Given the description of an element on the screen output the (x, y) to click on. 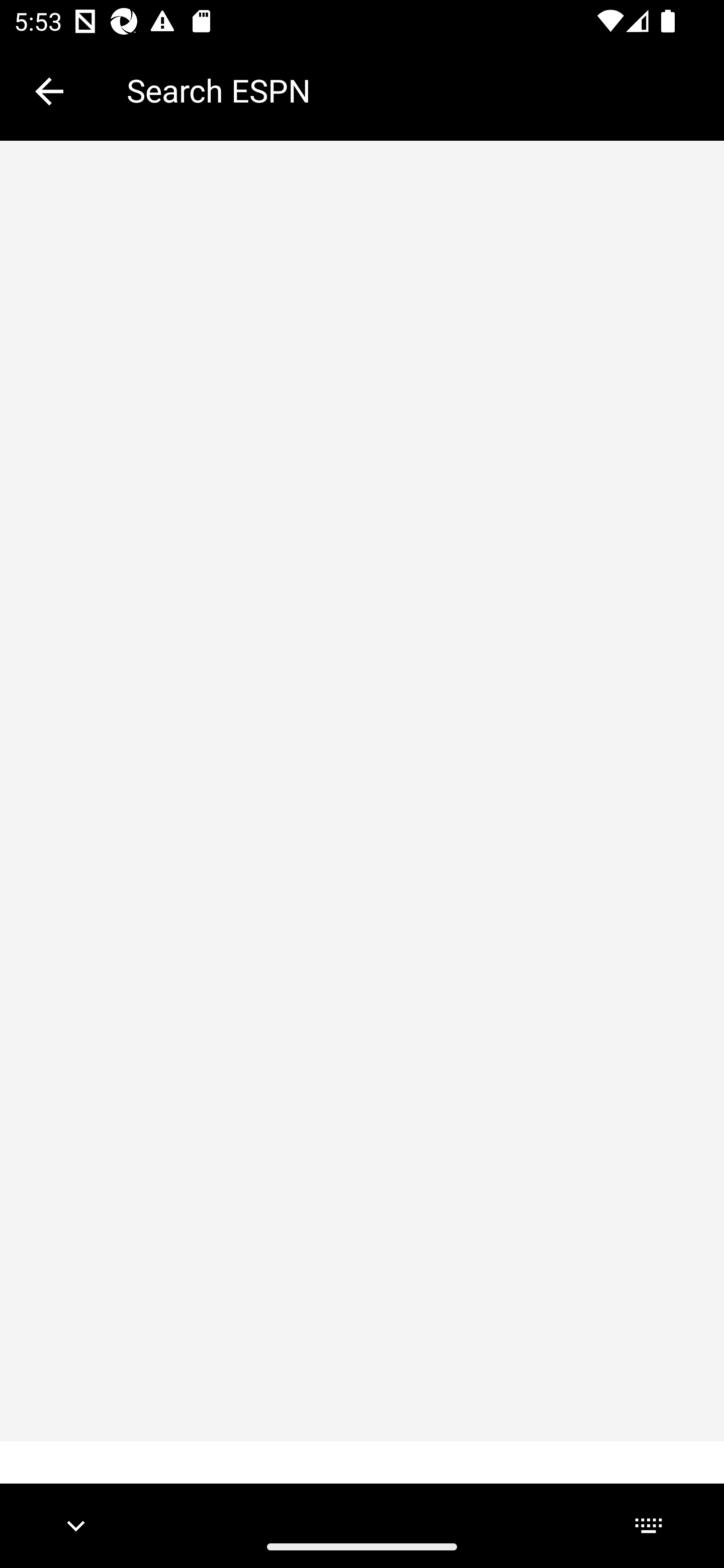
Collapse (49, 91)
Search ESPN (411, 90)
